Given the description of an element on the screen output the (x, y) to click on. 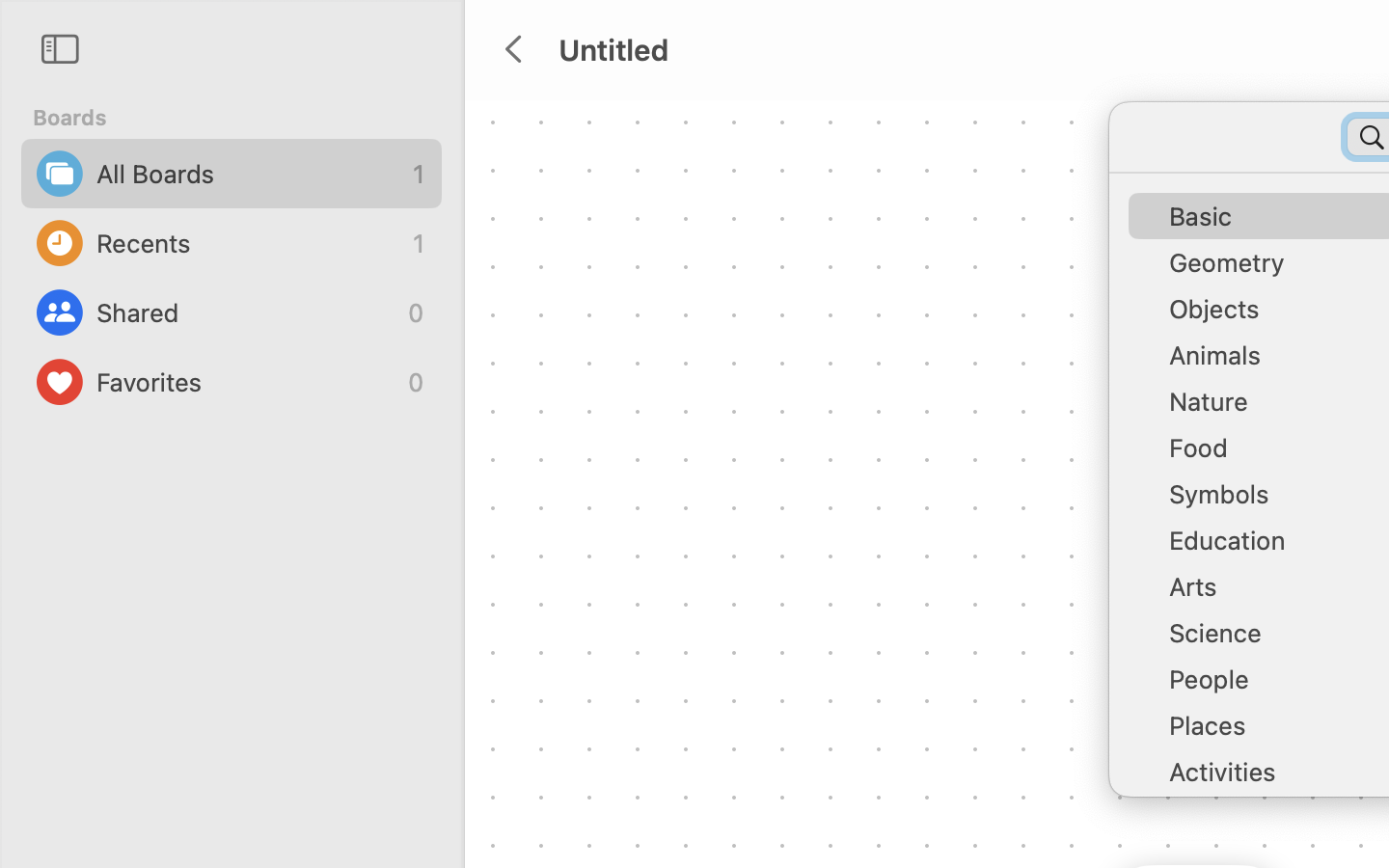
Geometry Element type: AXStaticText (1273, 269)
Recents Element type: AXStaticText (249, 242)
